Given the description of an element on the screen output the (x, y) to click on. 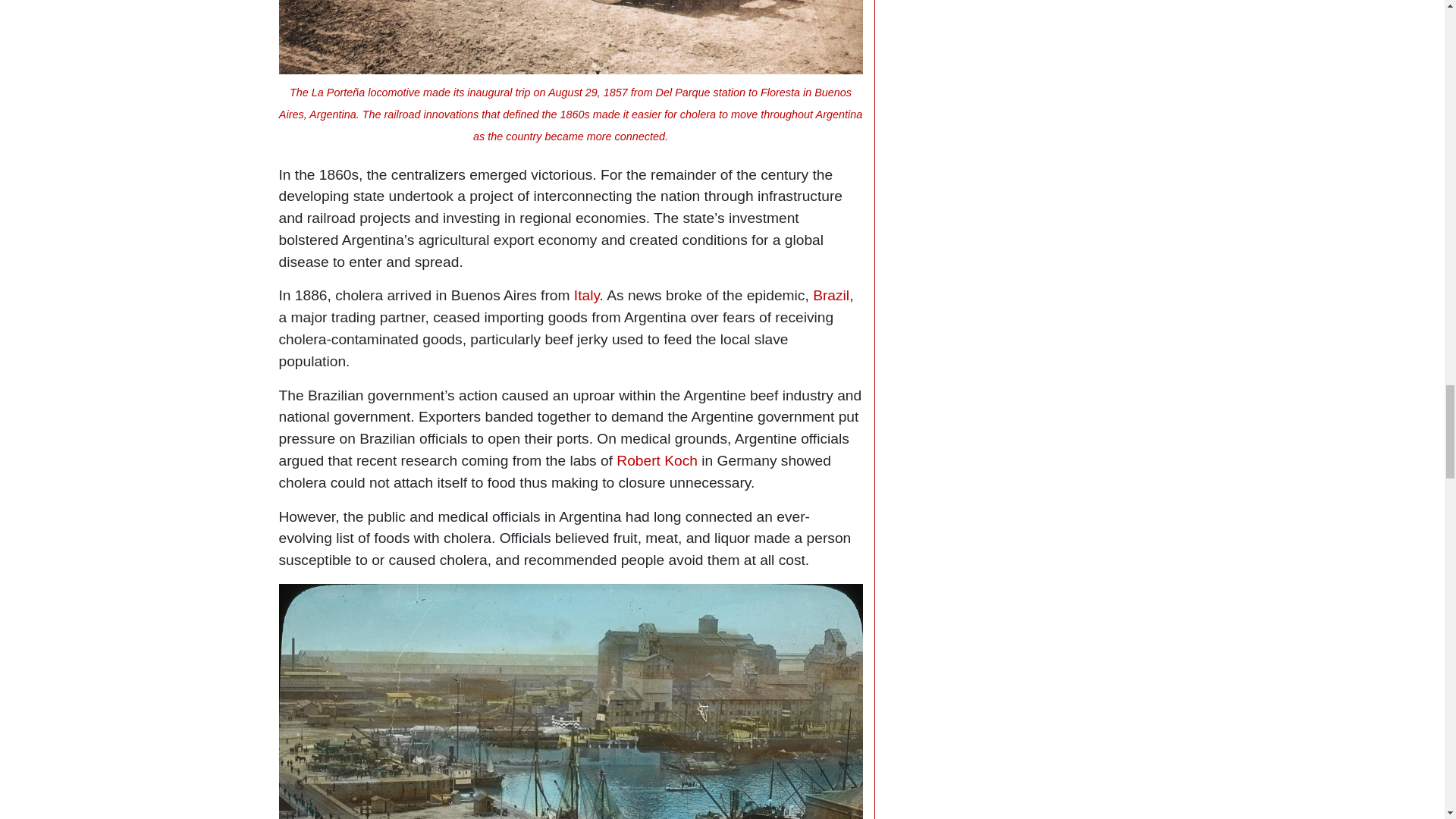
Brazil (830, 295)
Italy (586, 295)
Robert Koch (656, 460)
